Given the description of an element on the screen output the (x, y) to click on. 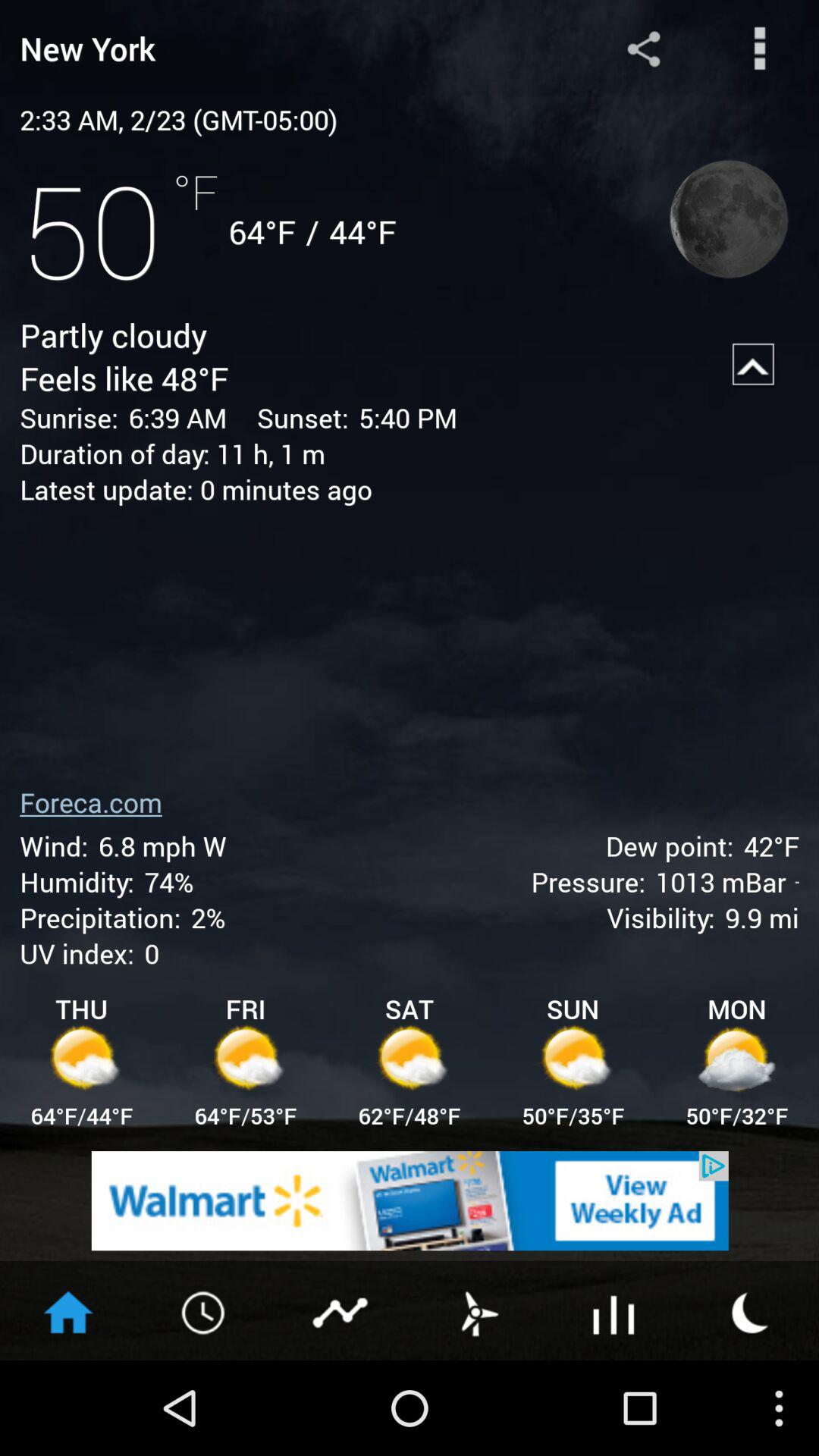
view menu options (759, 48)
